Given the description of an element on the screen output the (x, y) to click on. 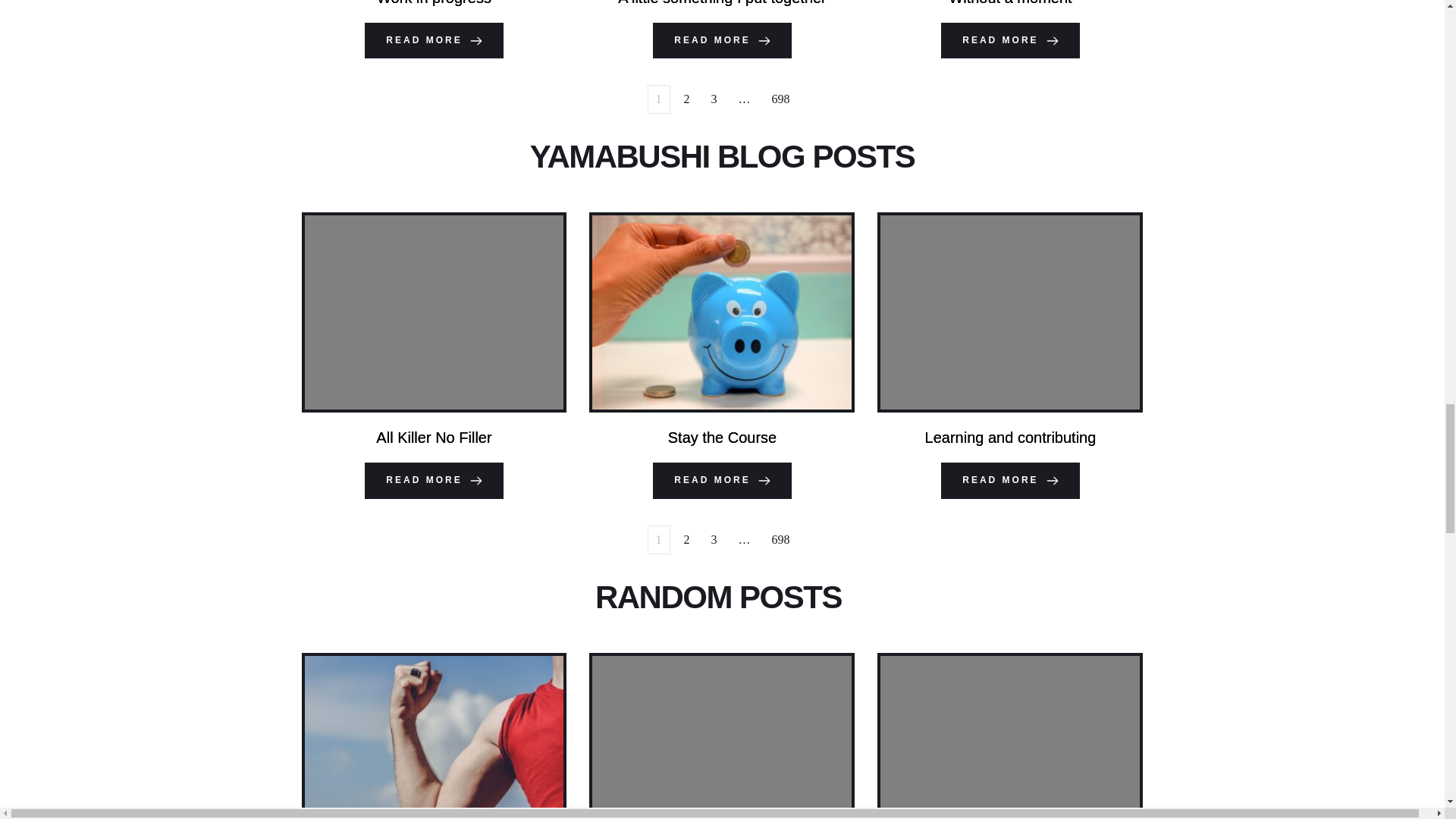
READ MORE (721, 40)
READ MORE (433, 40)
READ MORE (433, 480)
READ MORE (1009, 480)
698 (780, 539)
READ MORE (721, 480)
READ MORE (1009, 40)
698 (780, 99)
